Given the description of an element on the screen output the (x, y) to click on. 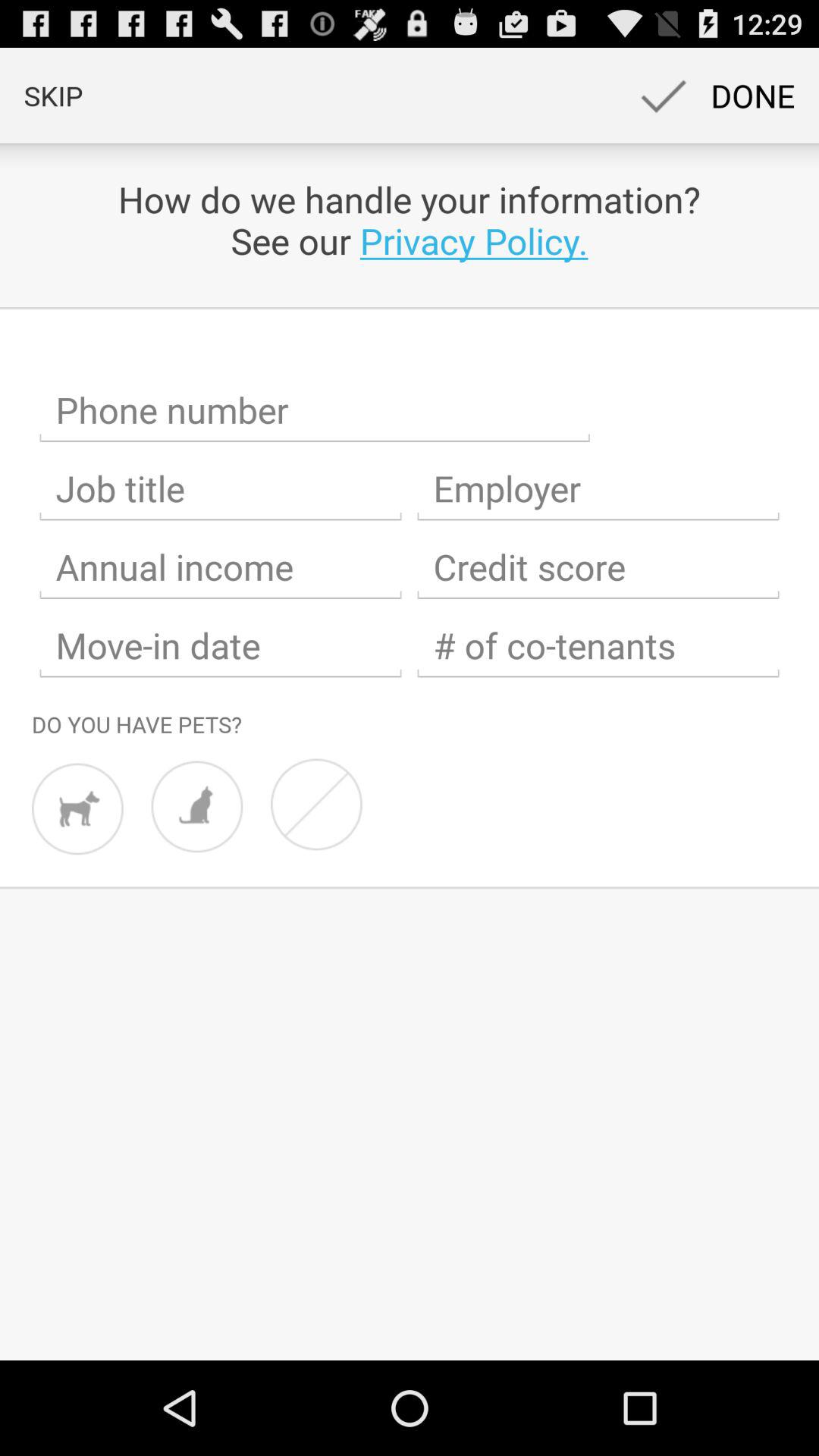
enter credit score (598, 567)
